Given the description of an element on the screen output the (x, y) to click on. 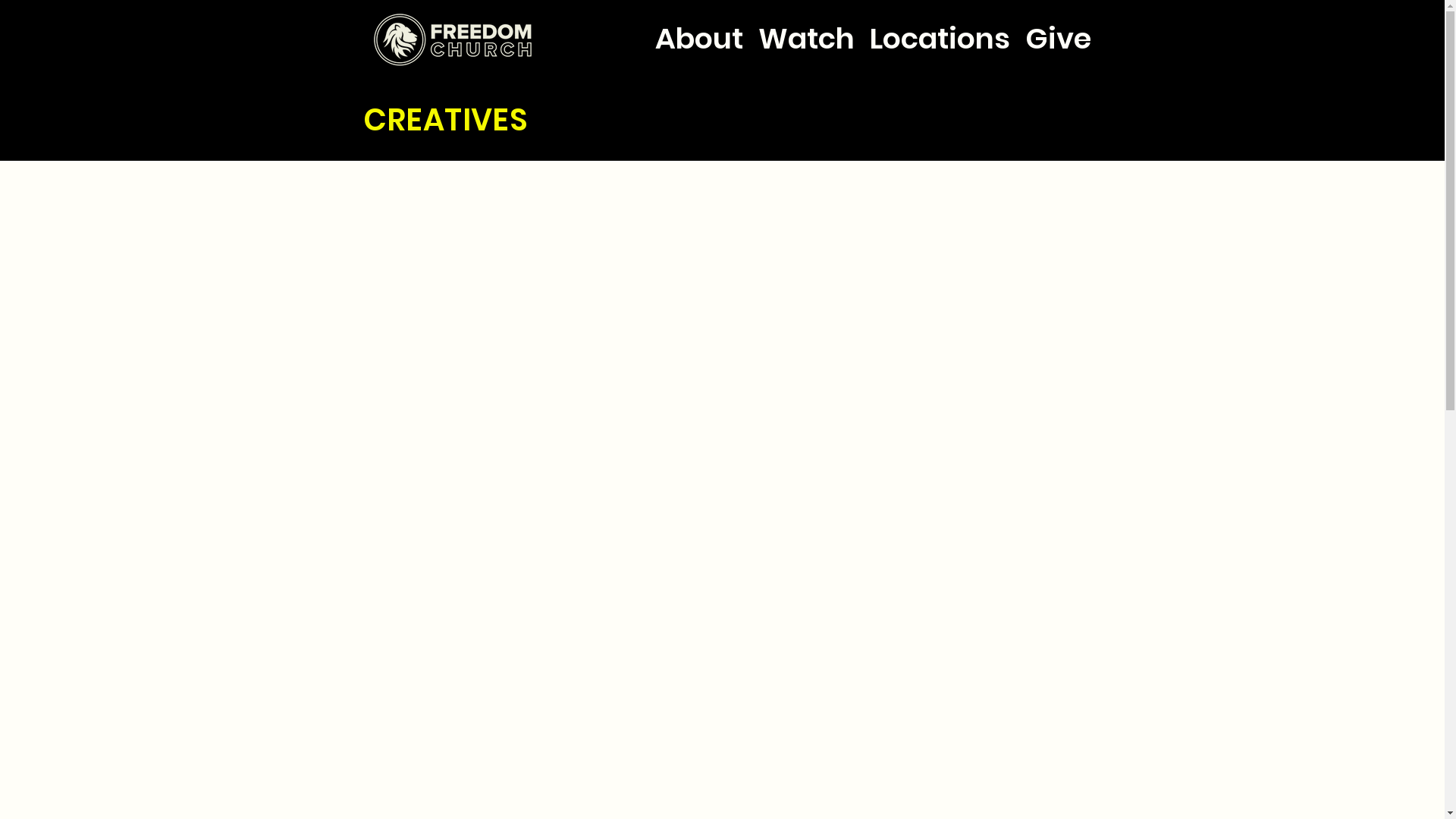
Locations Element type: text (938, 24)
About Element type: text (698, 24)
Give Element type: text (1057, 24)
Watch Element type: text (806, 24)
